Given the description of an element on the screen output the (x, y) to click on. 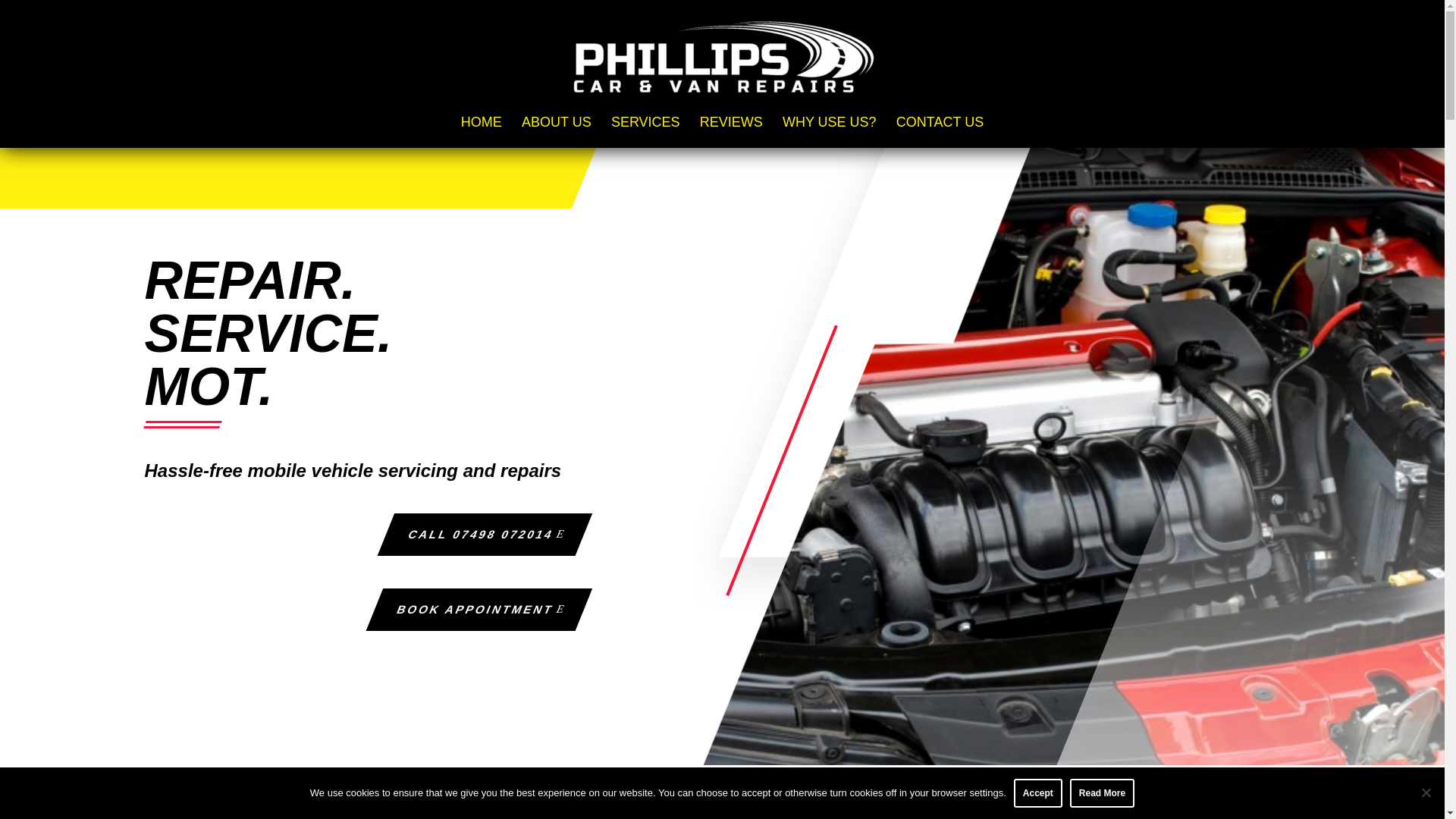
ABOUT US (556, 132)
No (1425, 791)
REVIEWS (731, 132)
BOOK APPOINTMENT (470, 609)
Accept (1037, 792)
Read More (1102, 792)
CONTACT US (940, 132)
SERVICES (645, 132)
WHY USE US? (829, 132)
HOME (481, 132)
CALL 07498 072014 (476, 534)
